Given the description of an element on the screen output the (x, y) to click on. 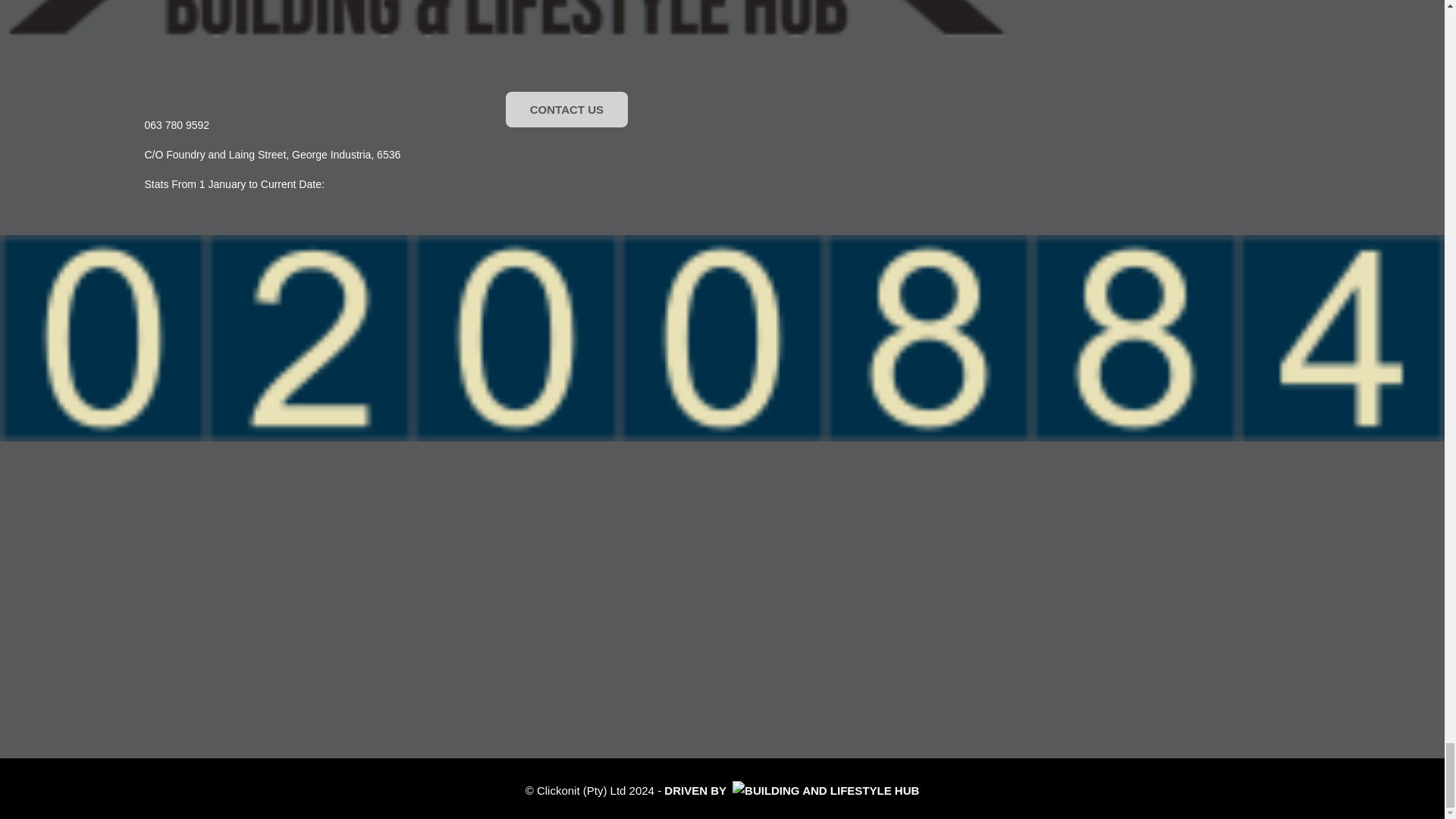
CONTACT US (566, 109)
Building and Lifestyle Hub (505, 20)
DRIVEN BY   (790, 789)
Building and Lifestyle Hub (825, 790)
